Given the description of an element on the screen output the (x, y) to click on. 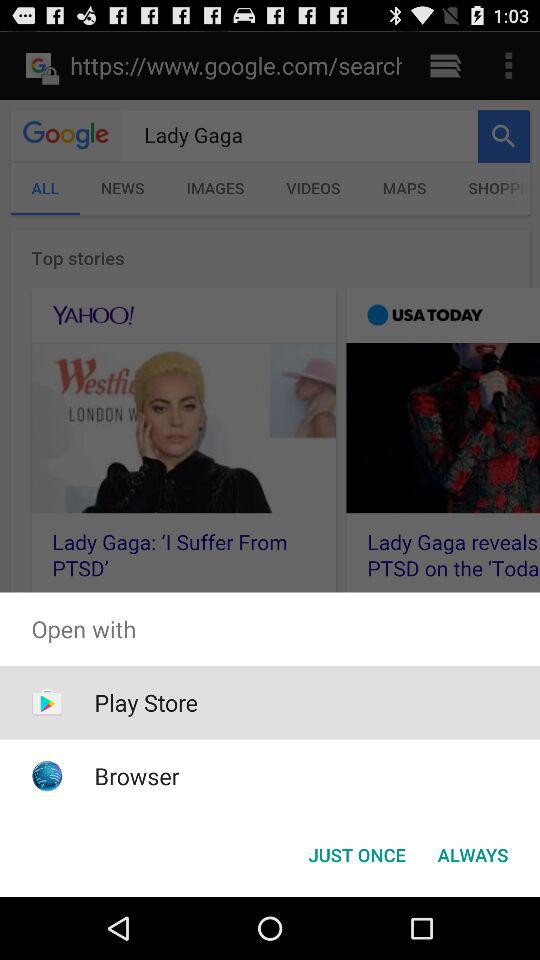
open always item (472, 854)
